Given the description of an element on the screen output the (x, y) to click on. 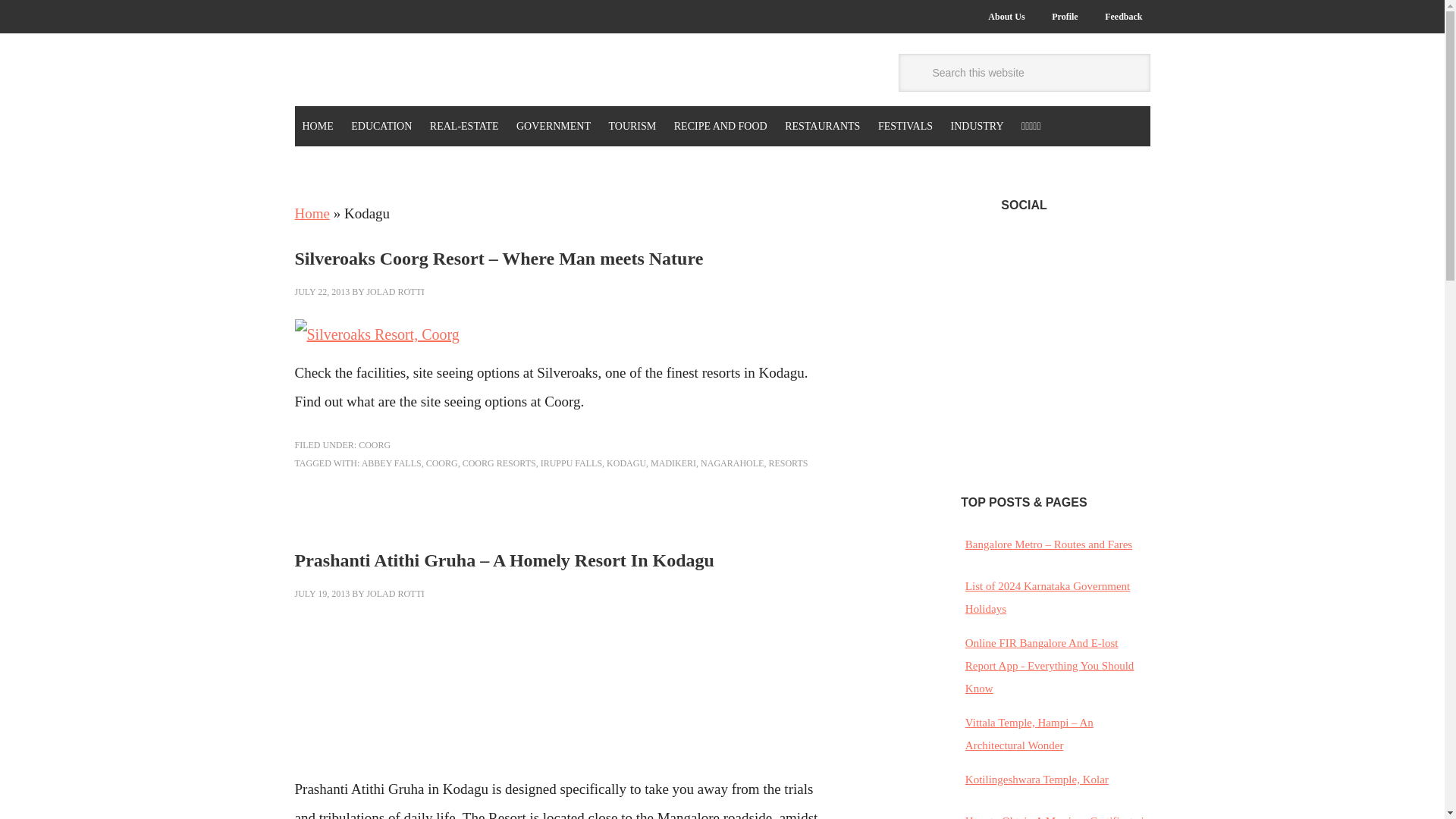
ABBEY FALLS (391, 462)
INDUSTRY (977, 126)
COORG RESORTS (499, 462)
KARNATAKA.COM (396, 71)
REAL-ESTATE (464, 126)
RECIPE AND FOOD (720, 126)
Home (311, 213)
KODAGU (626, 462)
RESTAURANTS (822, 126)
TOURISM (631, 126)
About Us (1005, 16)
JOLAD ROTTI (394, 593)
